Given the description of an element on the screen output the (x, y) to click on. 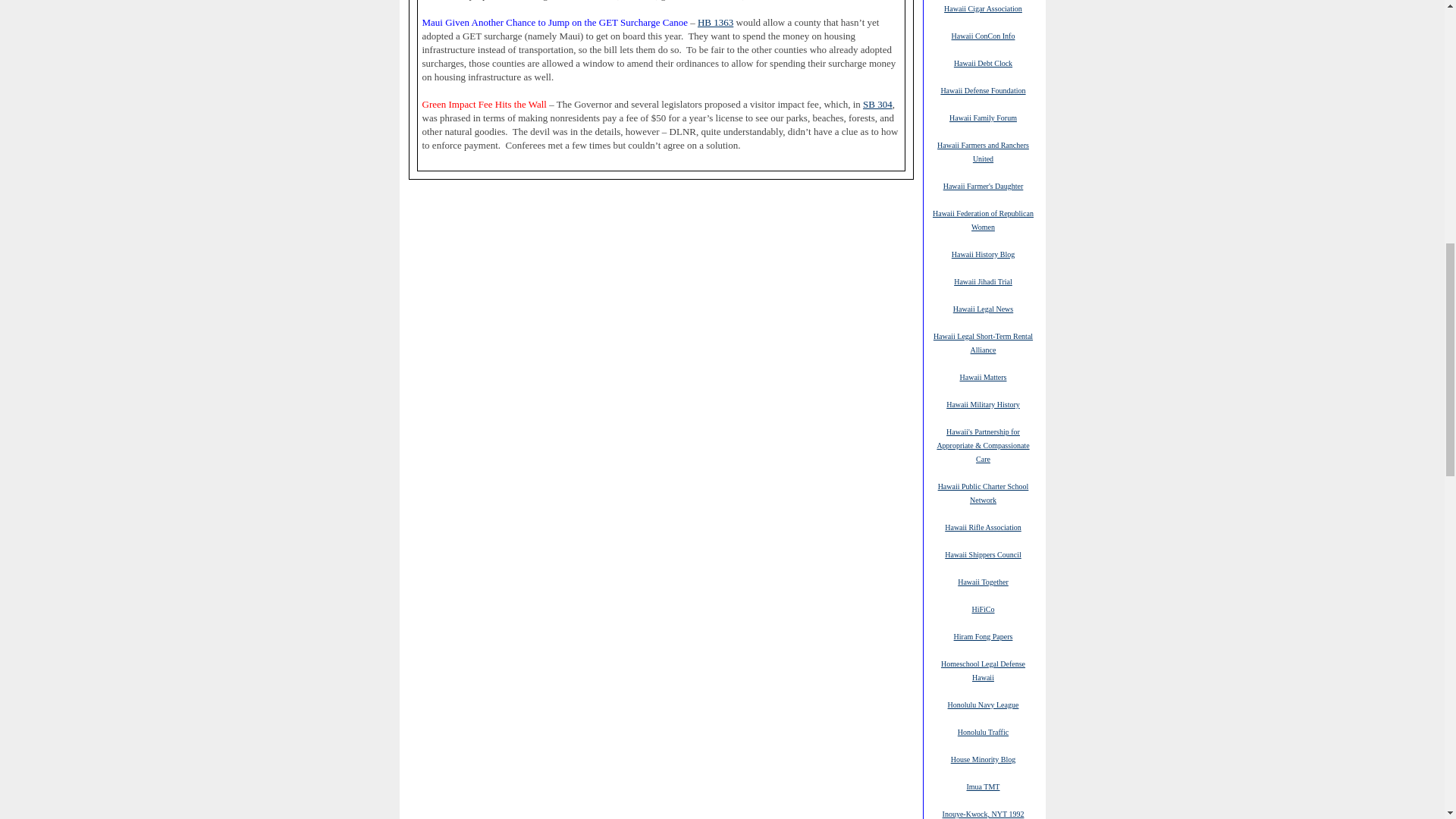
Hawaii Cigar Association (982, 8)
Hawaii ConCon Info (983, 35)
HB 1363 (715, 22)
SB 304 (877, 104)
